Given the description of an element on the screen output the (x, y) to click on. 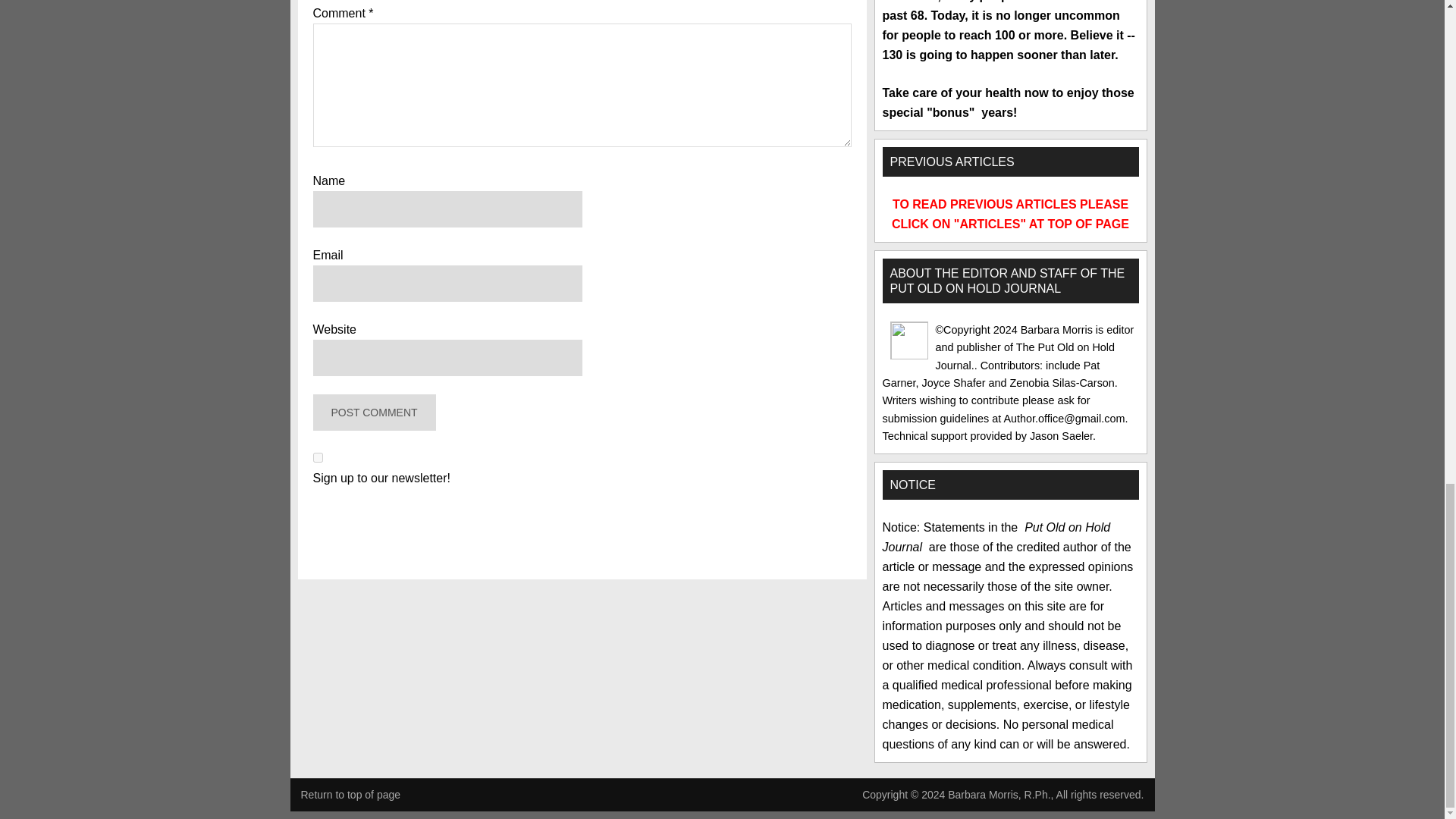
Post Comment (374, 411)
Post Comment (374, 411)
1 (317, 457)
Return to top of page (349, 794)
